Given the description of an element on the screen output the (x, y) to click on. 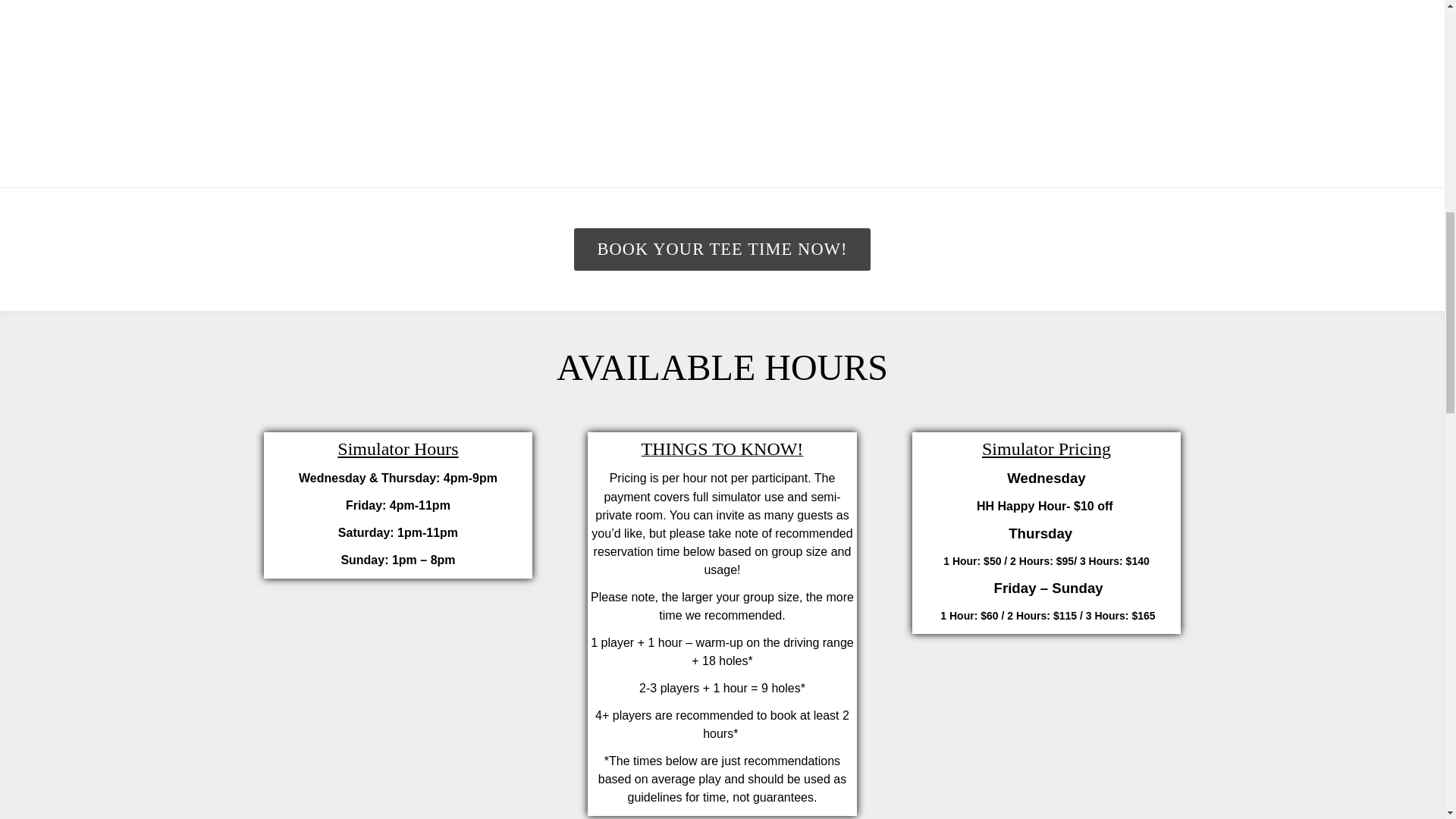
BOOK YOUR TEE TIME NOW! (721, 249)
